Given the description of an element on the screen output the (x, y) to click on. 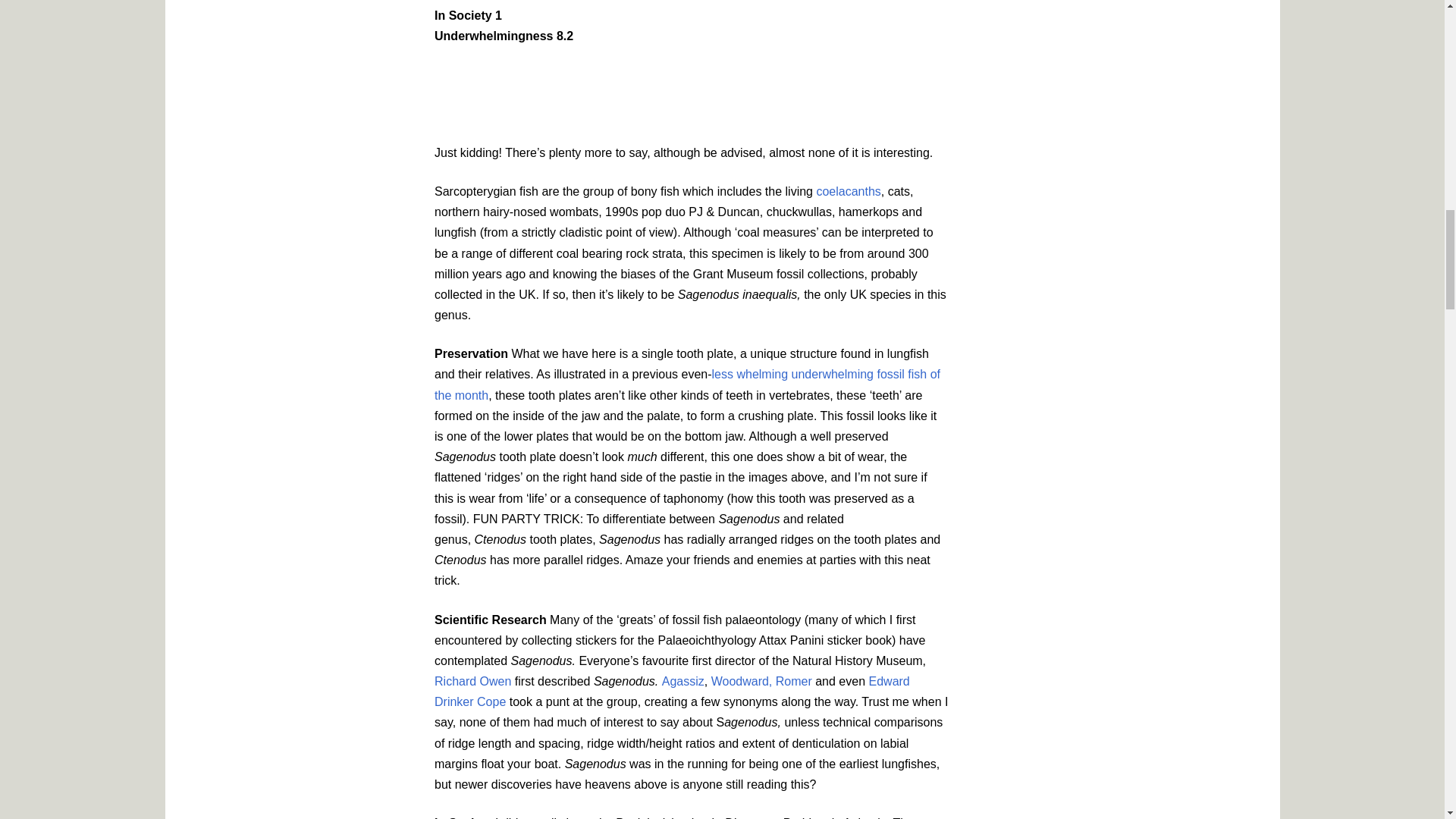
Richard Owen (472, 680)
less whelming underwhelming fossil fish of the month (686, 384)
Agassiz (683, 680)
Woodward, (742, 680)
Romer (795, 680)
coelacanths (847, 191)
Edward Drinker Cope (671, 691)
